Given the description of an element on the screen output the (x, y) to click on. 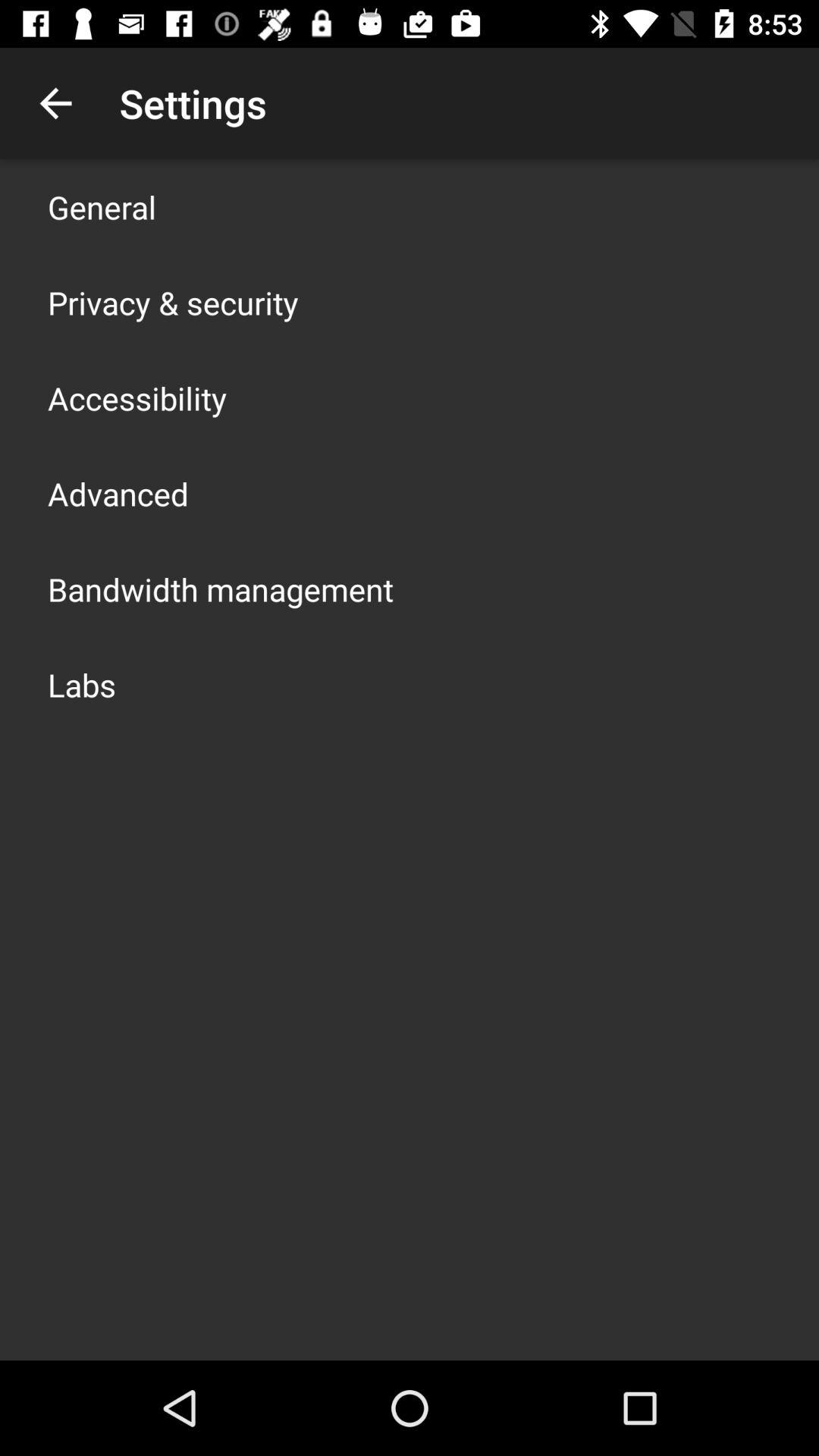
open item above privacy & security item (101, 206)
